Given the description of an element on the screen output the (x, y) to click on. 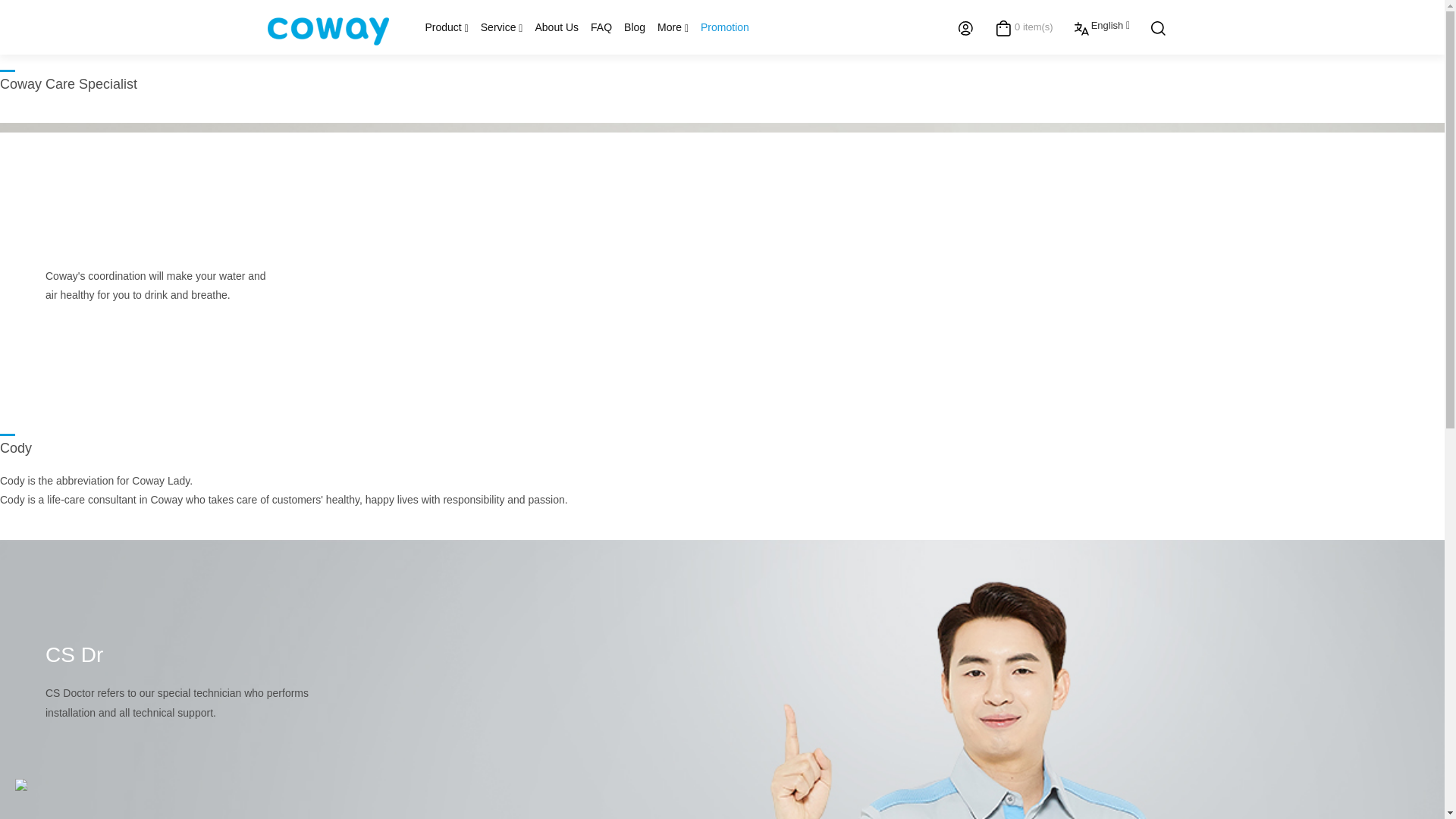
Coway USA (327, 27)
Promotion (724, 27)
Service (501, 27)
English (1109, 25)
About Us (556, 27)
Shopping Cart (1003, 27)
Shopping Cart (1033, 28)
Product (446, 27)
